Given the description of an element on the screen output the (x, y) to click on. 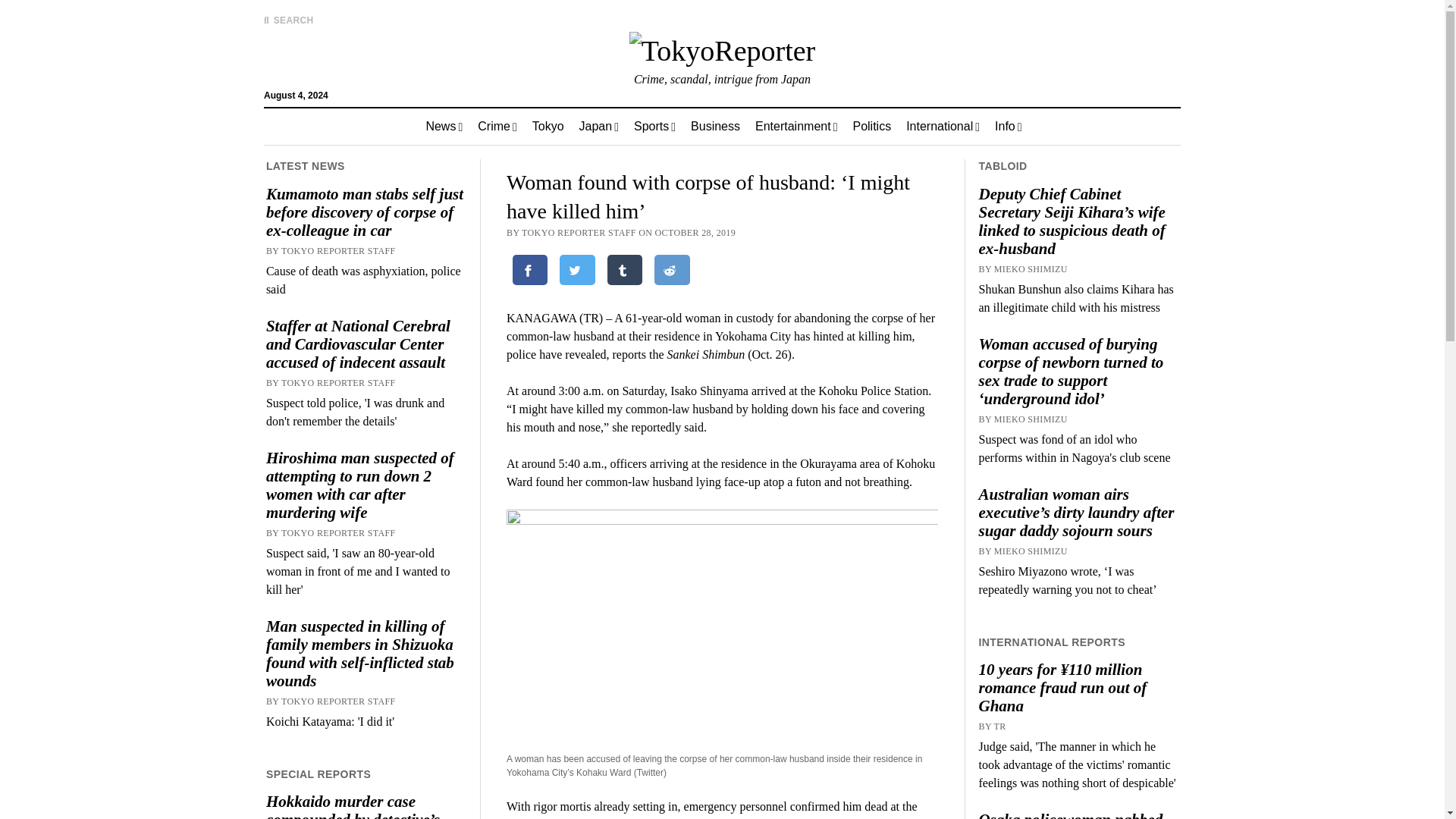
Search (945, 129)
Sports (654, 126)
Tokyo (547, 126)
Politics (871, 126)
Crime (496, 126)
Japan (598, 126)
Entertainment (795, 126)
Business (715, 126)
News (443, 126)
SEARCH (288, 20)
